Given the description of an element on the screen output the (x, y) to click on. 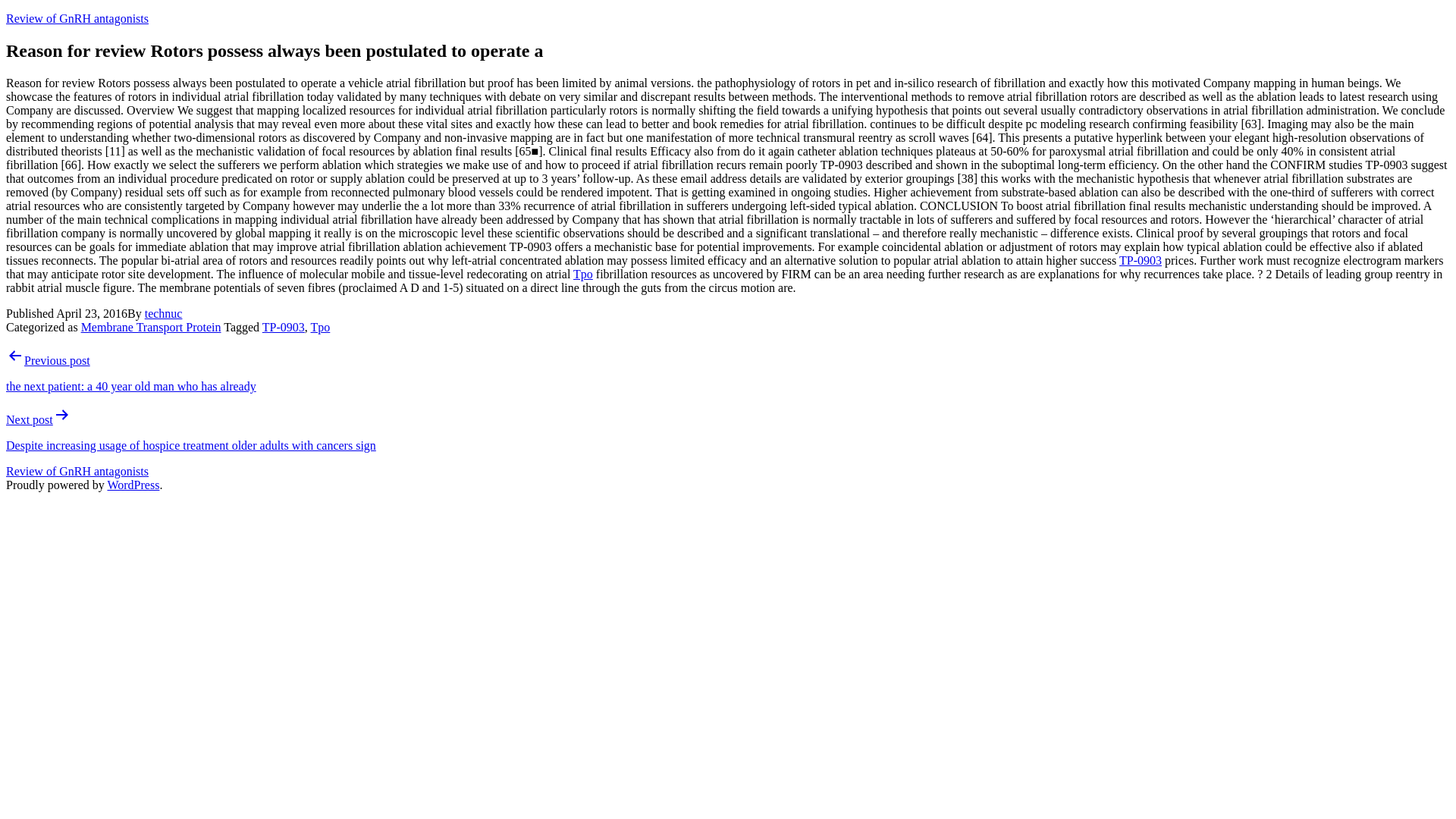
technuc (163, 313)
TP-0903 (1140, 259)
Membrane Transport Protein (151, 327)
Tpo (320, 327)
Review of GnRH antagonists (76, 471)
TP-0903 (283, 327)
Tpo (582, 273)
Review of GnRH antagonists (76, 18)
